Given the description of an element on the screen output the (x, y) to click on. 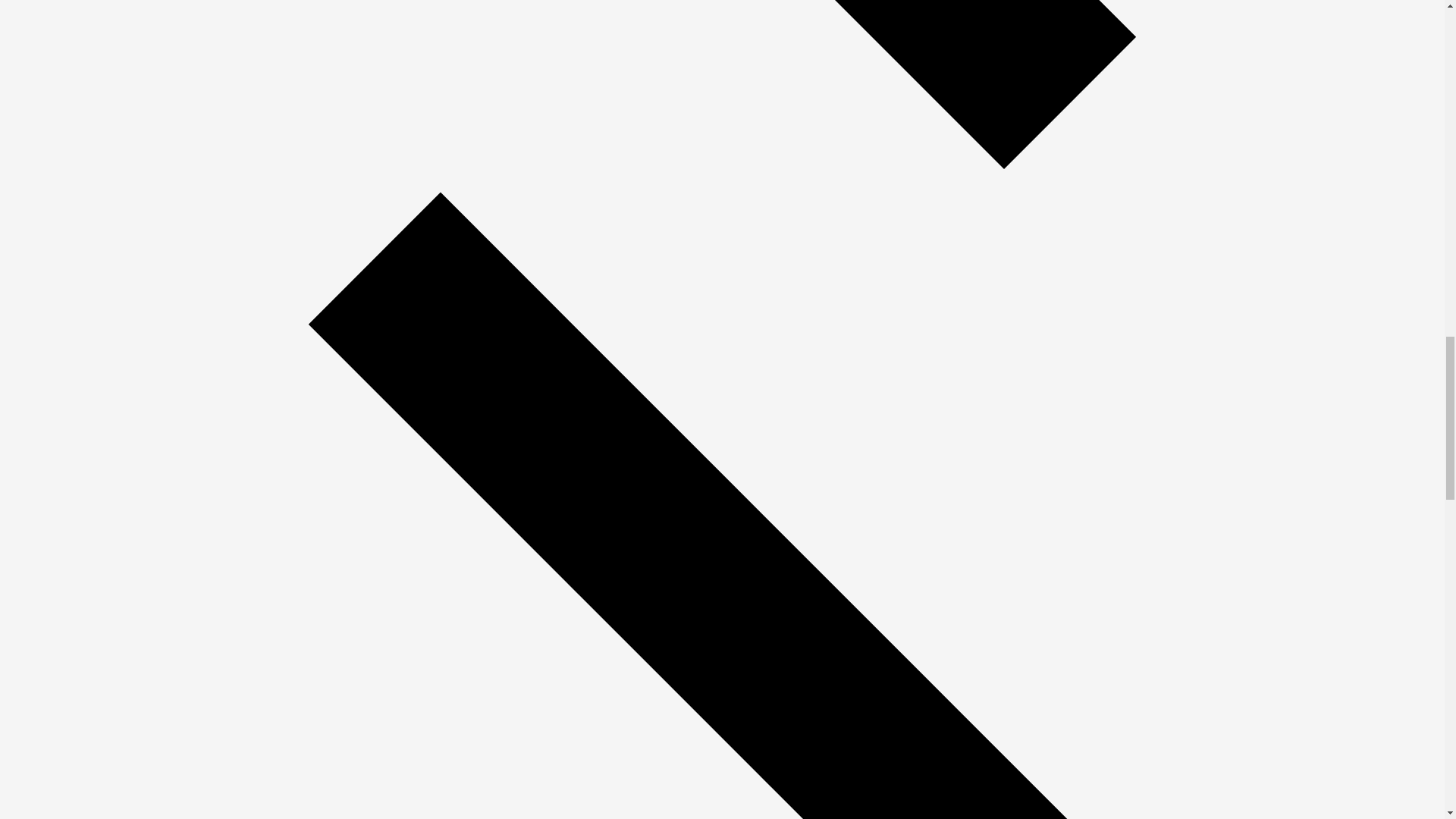
Previous week (721, 173)
